Given the description of an element on the screen output the (x, y) to click on. 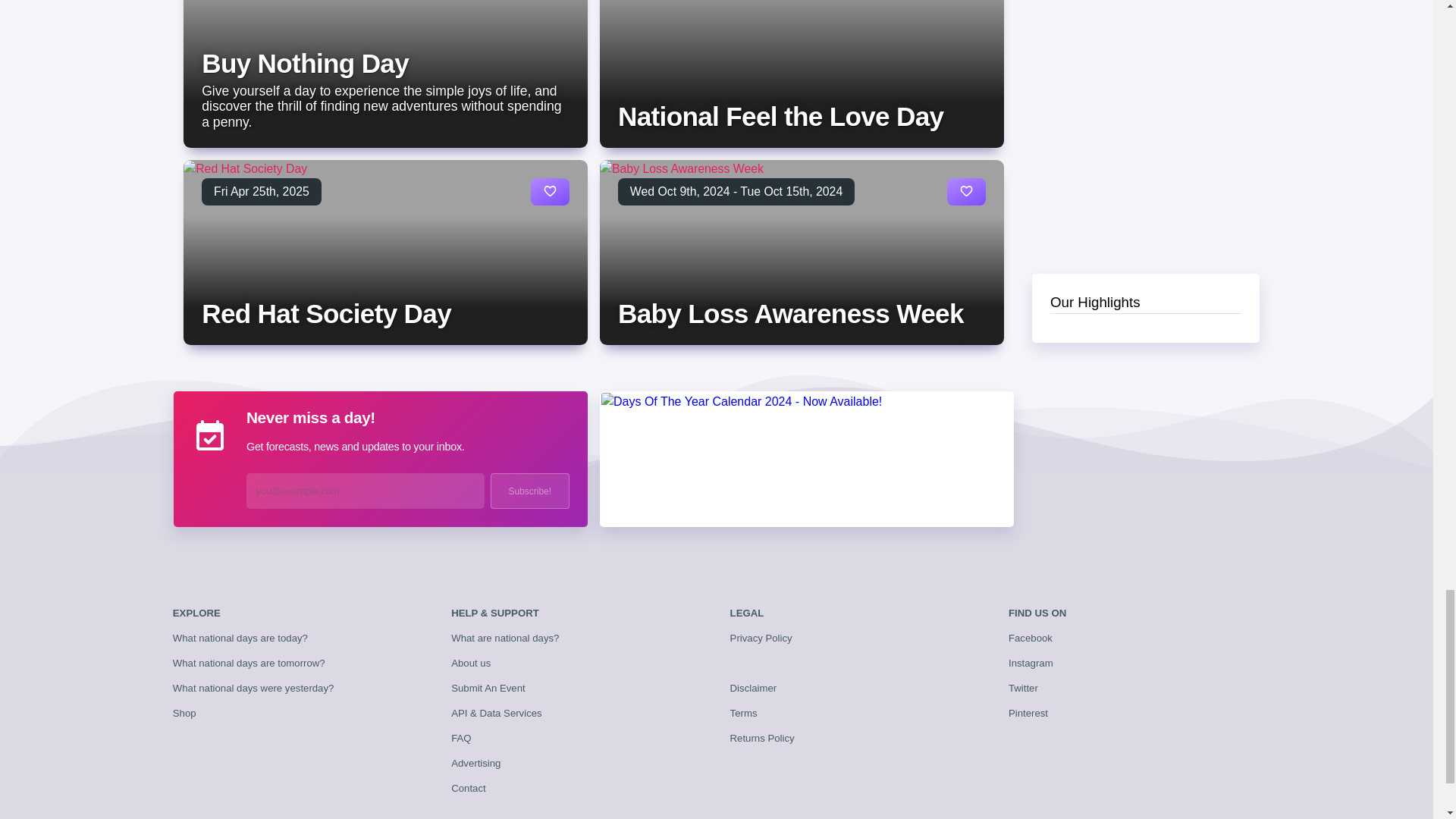
Twitter (1023, 687)
Buy Nothing Day (305, 62)
National Feel the Love Day (780, 116)
Red Hat Society Day (326, 313)
Instagram (1030, 663)
Pinterest (1028, 713)
Subscribe! (529, 490)
Facebook (1030, 637)
